Given the description of an element on the screen output the (x, y) to click on. 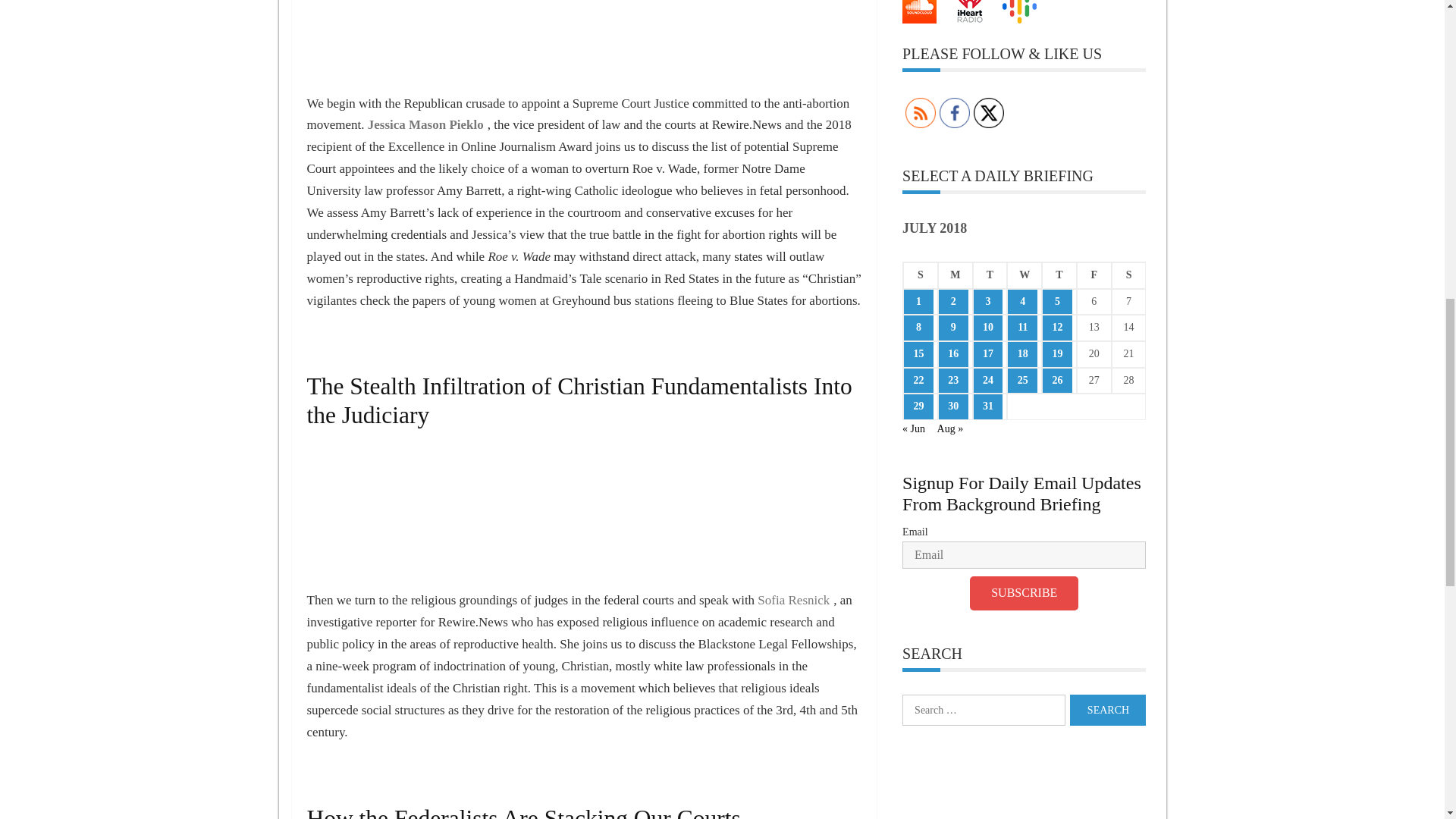
RSS (920, 112)
Twitter (989, 112)
Jessica Mason Pieklo (425, 124)
Sunday (919, 275)
Search (1107, 709)
Thursday (1059, 275)
Monday (954, 275)
Friday (1094, 275)
Sofia Resnick (793, 599)
Tuesday (989, 275)
